Given the description of an element on the screen output the (x, y) to click on. 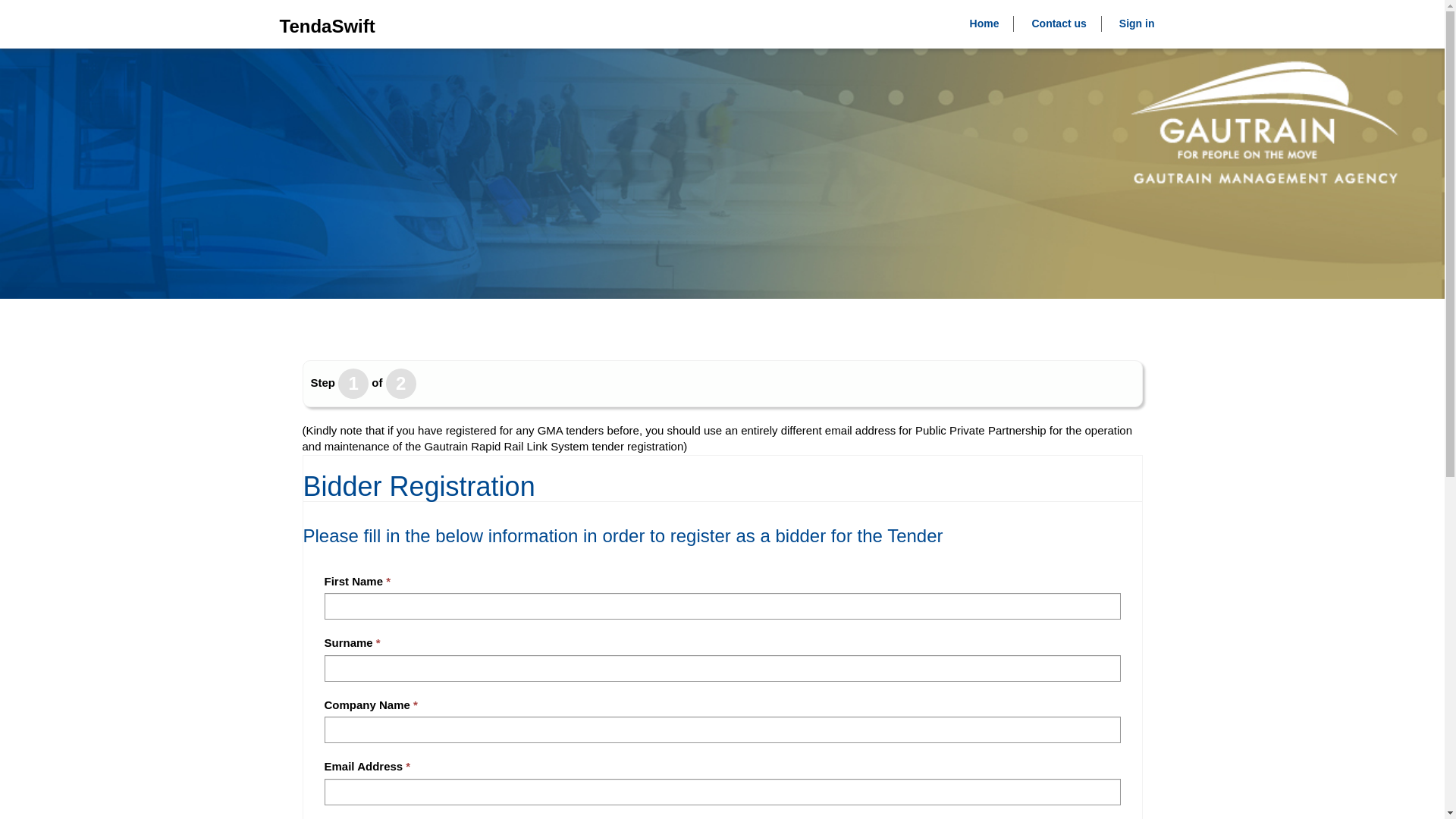
TendaSwift (326, 29)
Home (984, 23)
Sign in (1137, 23)
Company Name is a required field. (722, 729)
Contact us (1058, 23)
TendaSwift (326, 29)
Surname is a required field. (722, 668)
Home (984, 23)
First Name is a required field. (722, 605)
Contact us (1058, 23)
